Given the description of an element on the screen output the (x, y) to click on. 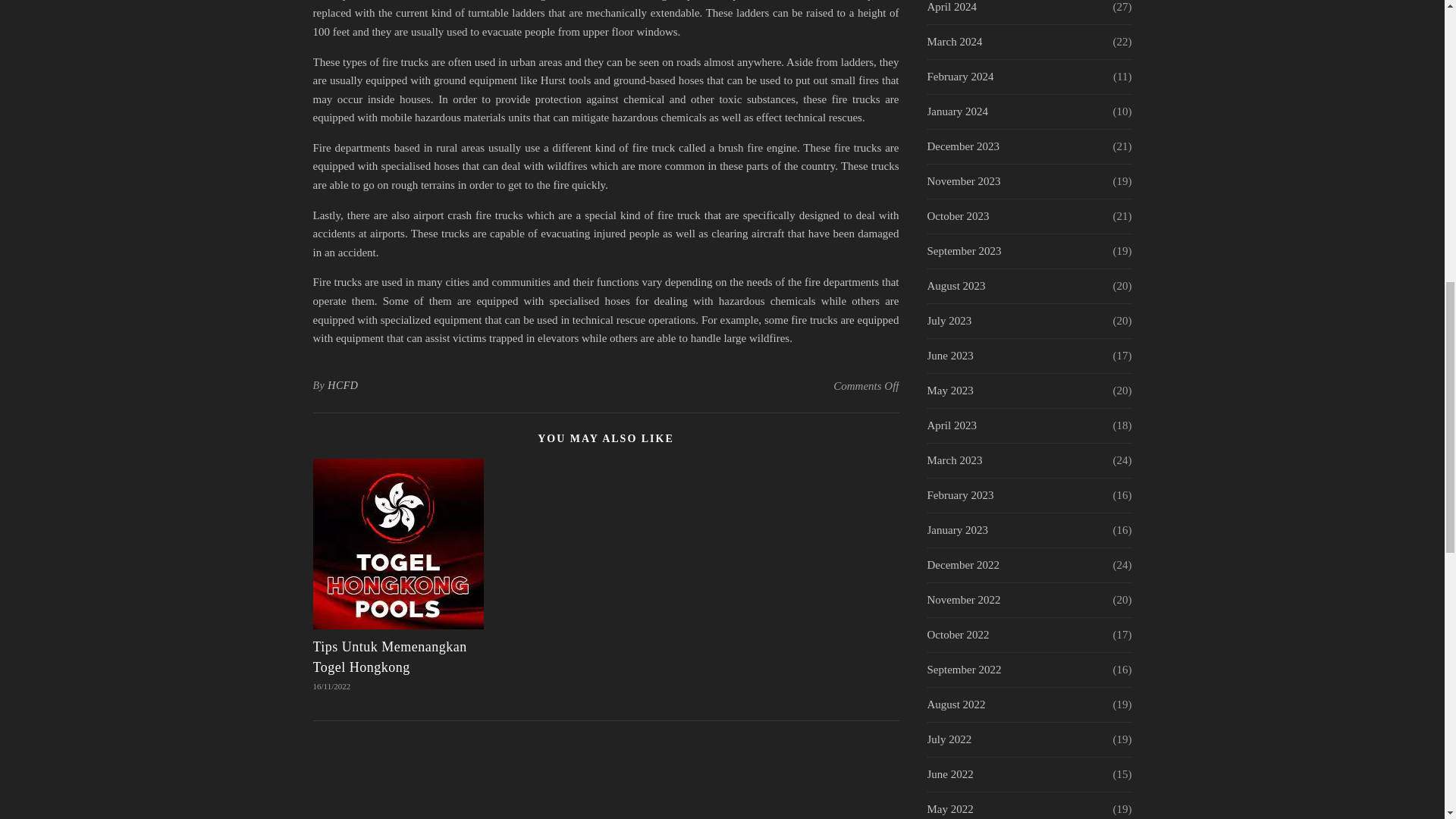
November 2023 (963, 181)
April 2024 (950, 12)
January 2023 (956, 530)
January 2024 (956, 111)
December 2022 (962, 564)
February 2023 (959, 495)
December 2023 (962, 146)
October 2023 (957, 216)
Tips Untuk Memenangkan Togel Hongkong (389, 656)
September 2023 (963, 251)
